Given the description of an element on the screen output the (x, y) to click on. 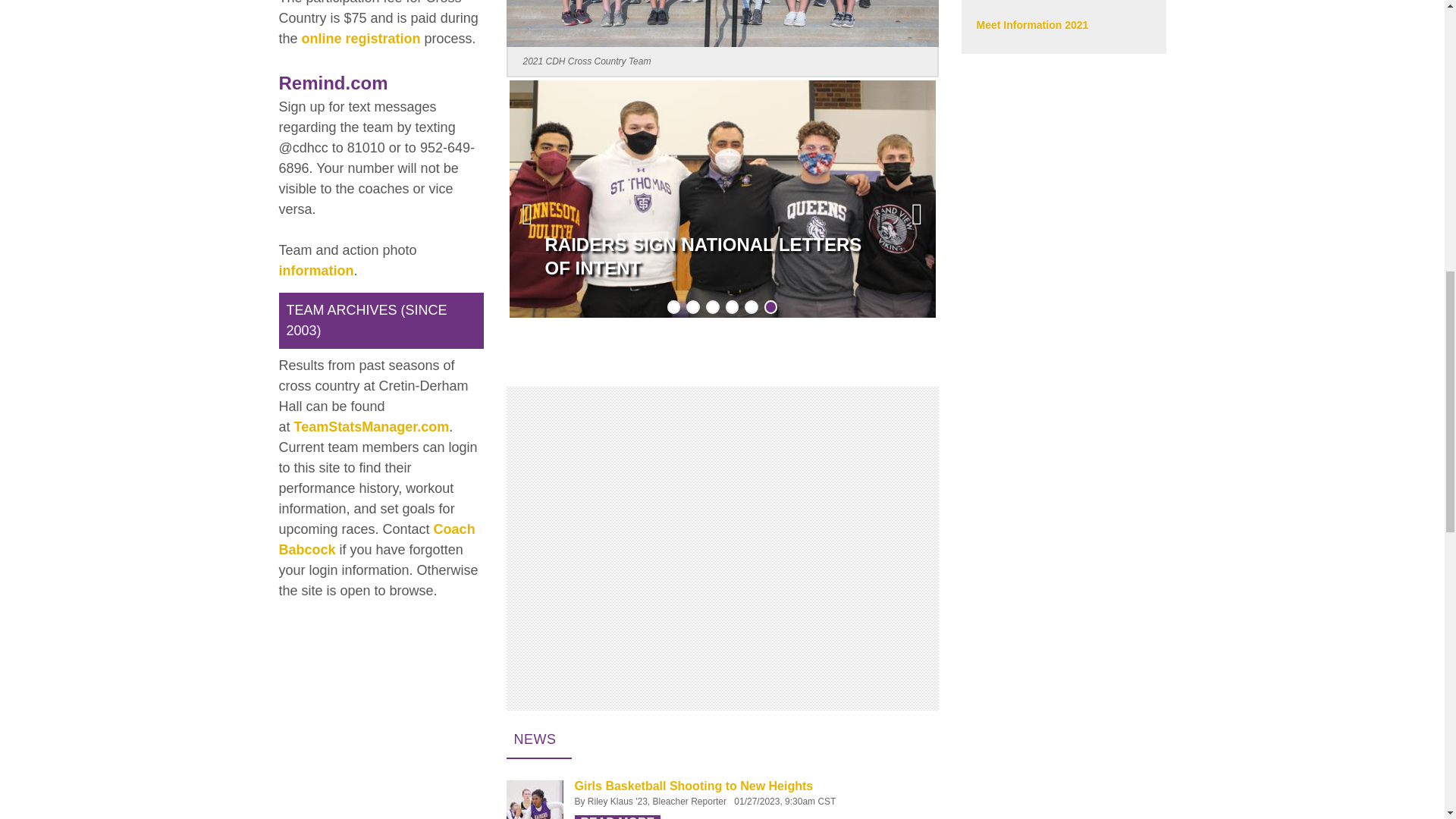
TeamStatsManager.com (371, 426)
information (316, 270)
online registration (360, 38)
Coach Babcock (377, 539)
